Given the description of an element on the screen output the (x, y) to click on. 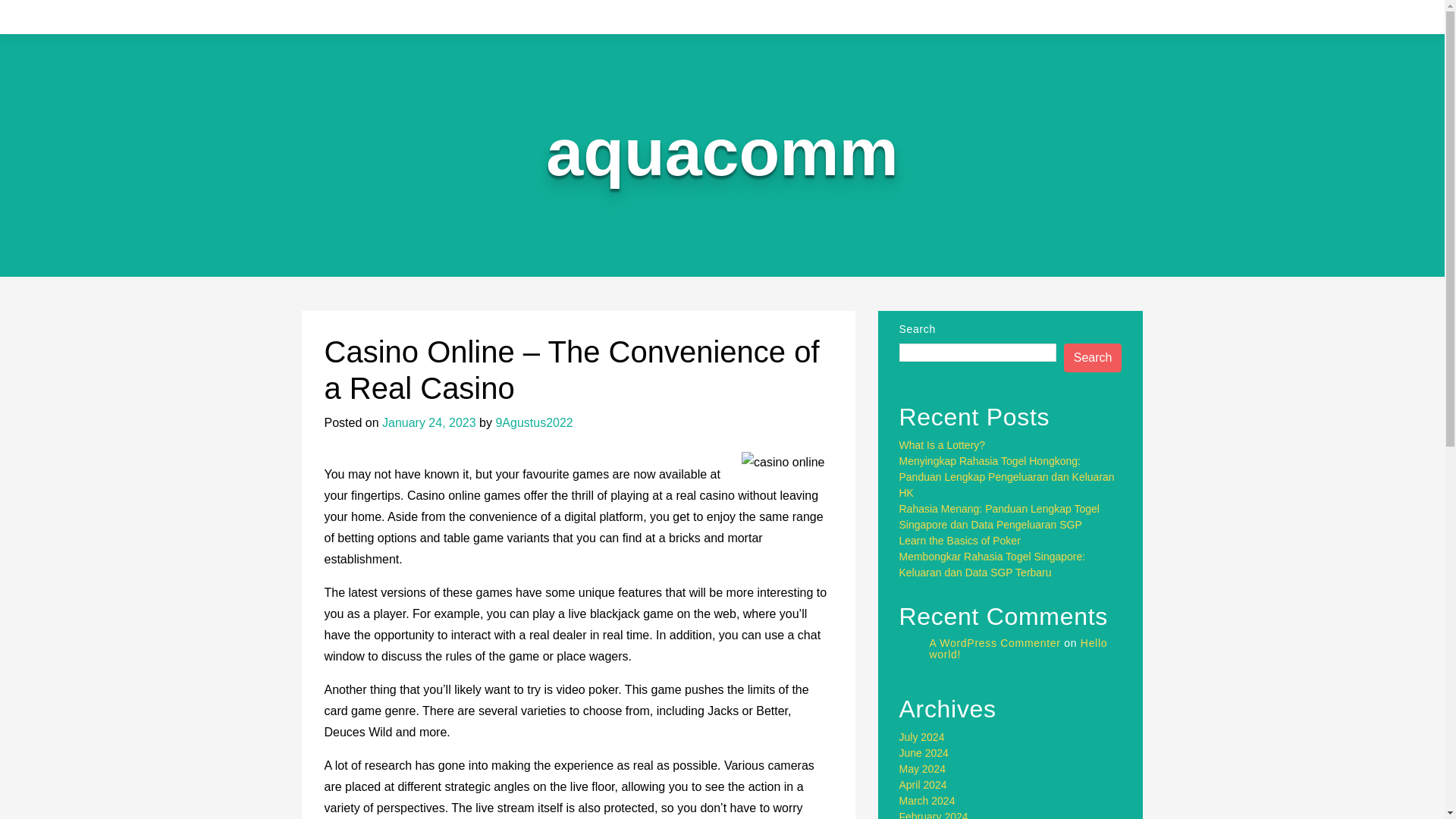
Learn the Basics of Poker (959, 540)
Hello world! (1019, 648)
June 2024 (924, 752)
9Agustus2022 (533, 422)
March 2024 (927, 800)
February 2024 (933, 814)
July 2024 (921, 736)
January 24, 2023 (428, 422)
May 2024 (921, 768)
April 2024 (923, 784)
A WordPress Commenter (995, 643)
What Is a Lottery? (942, 444)
